Given the description of an element on the screen output the (x, y) to click on. 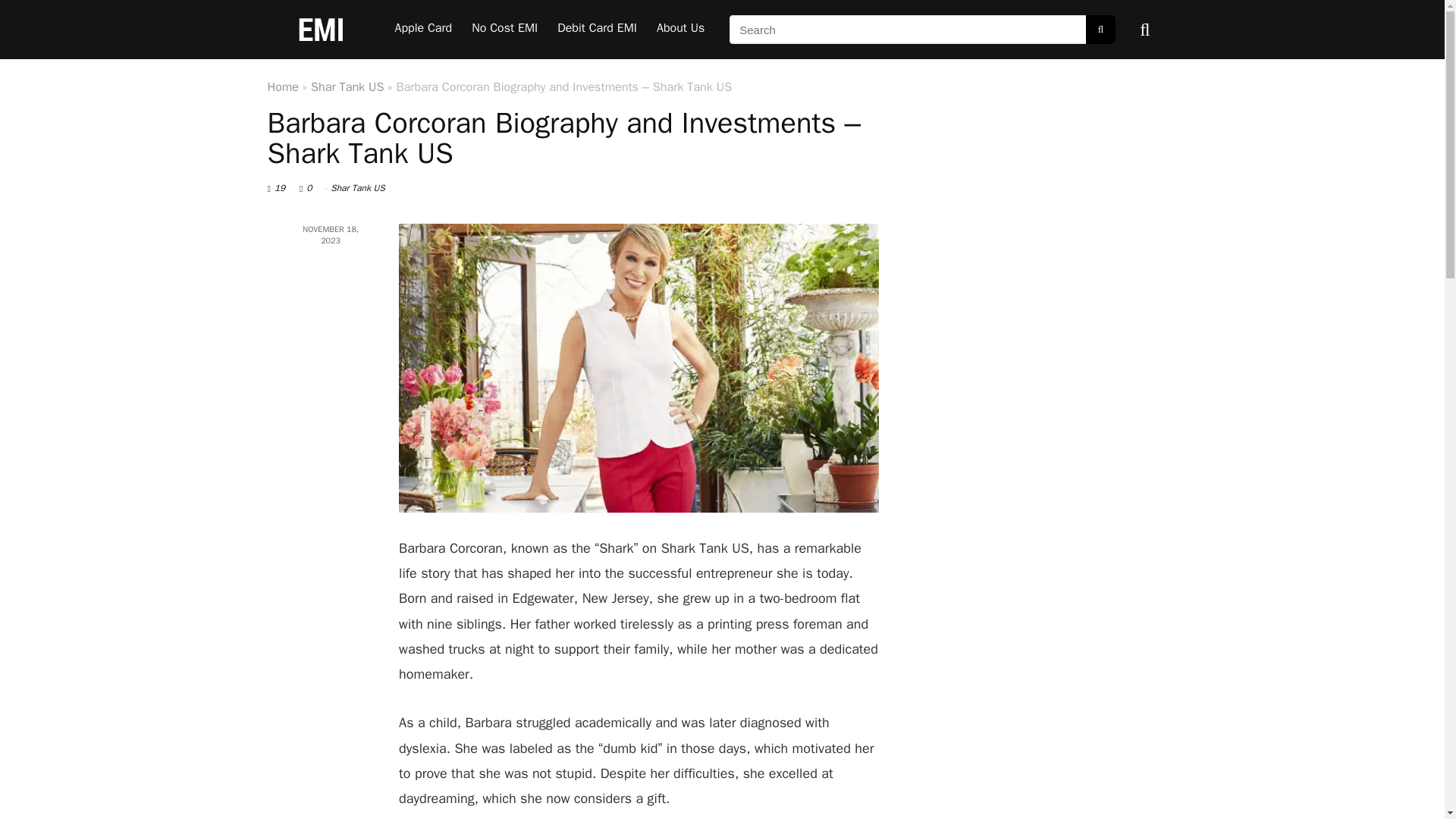
Shar Tank US (357, 187)
Shar Tank US (347, 86)
Debit Card EMI (596, 29)
Home (282, 86)
No Cost EMI Guide (504, 29)
No Cost EMI (504, 29)
Apple Card (424, 29)
About Us (680, 29)
View all posts in Shar Tank US (357, 187)
